Given the description of an element on the screen output the (x, y) to click on. 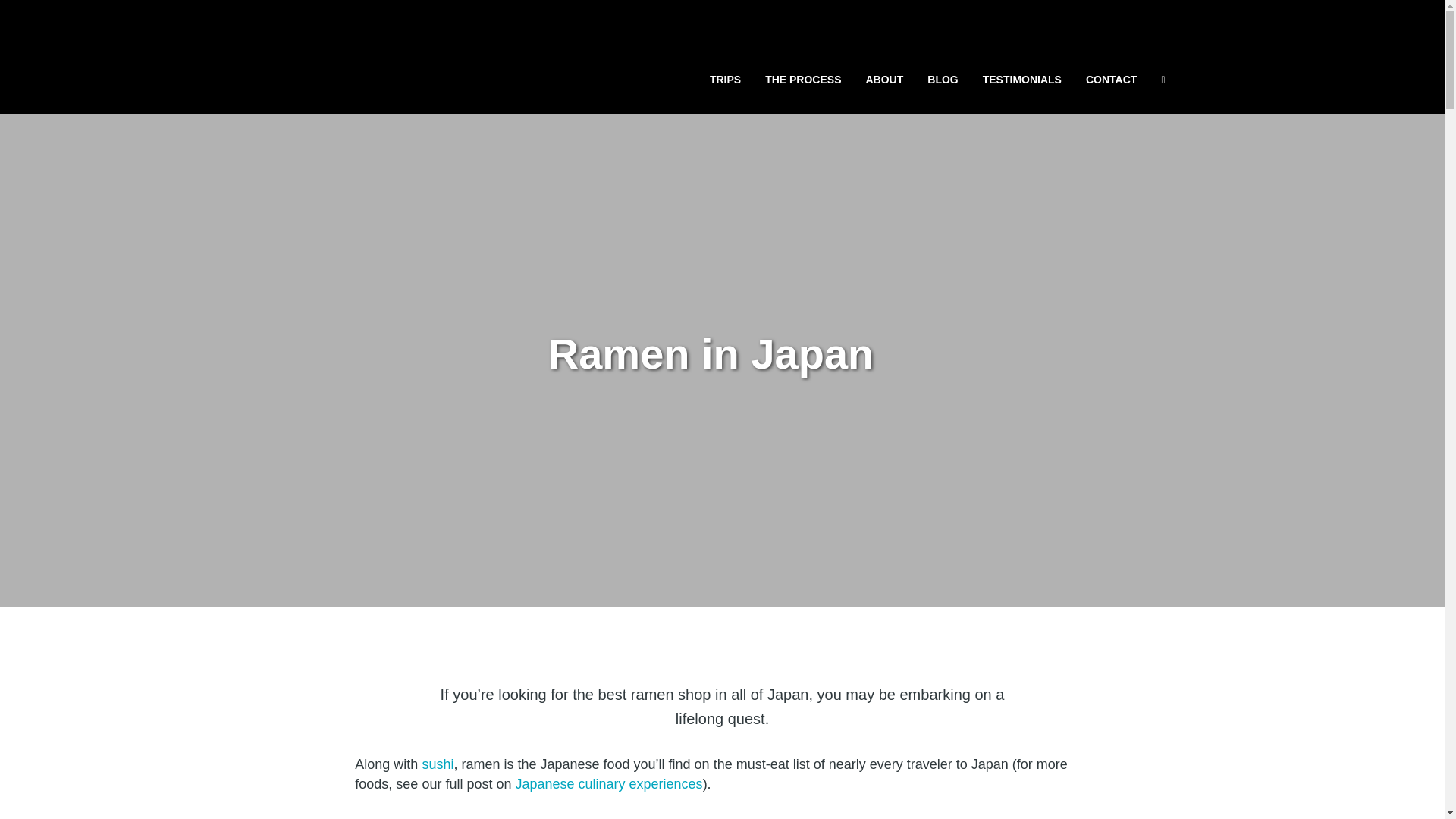
TESTIMONIALS (1022, 78)
TRIPS (724, 78)
BLOG (942, 78)
sushi (437, 764)
CONTACT (1111, 78)
ABOUT (884, 78)
Boutique Japan (418, 60)
Japanese culinary experiences (608, 783)
THE PROCESS (802, 78)
